Given the description of an element on the screen output the (x, y) to click on. 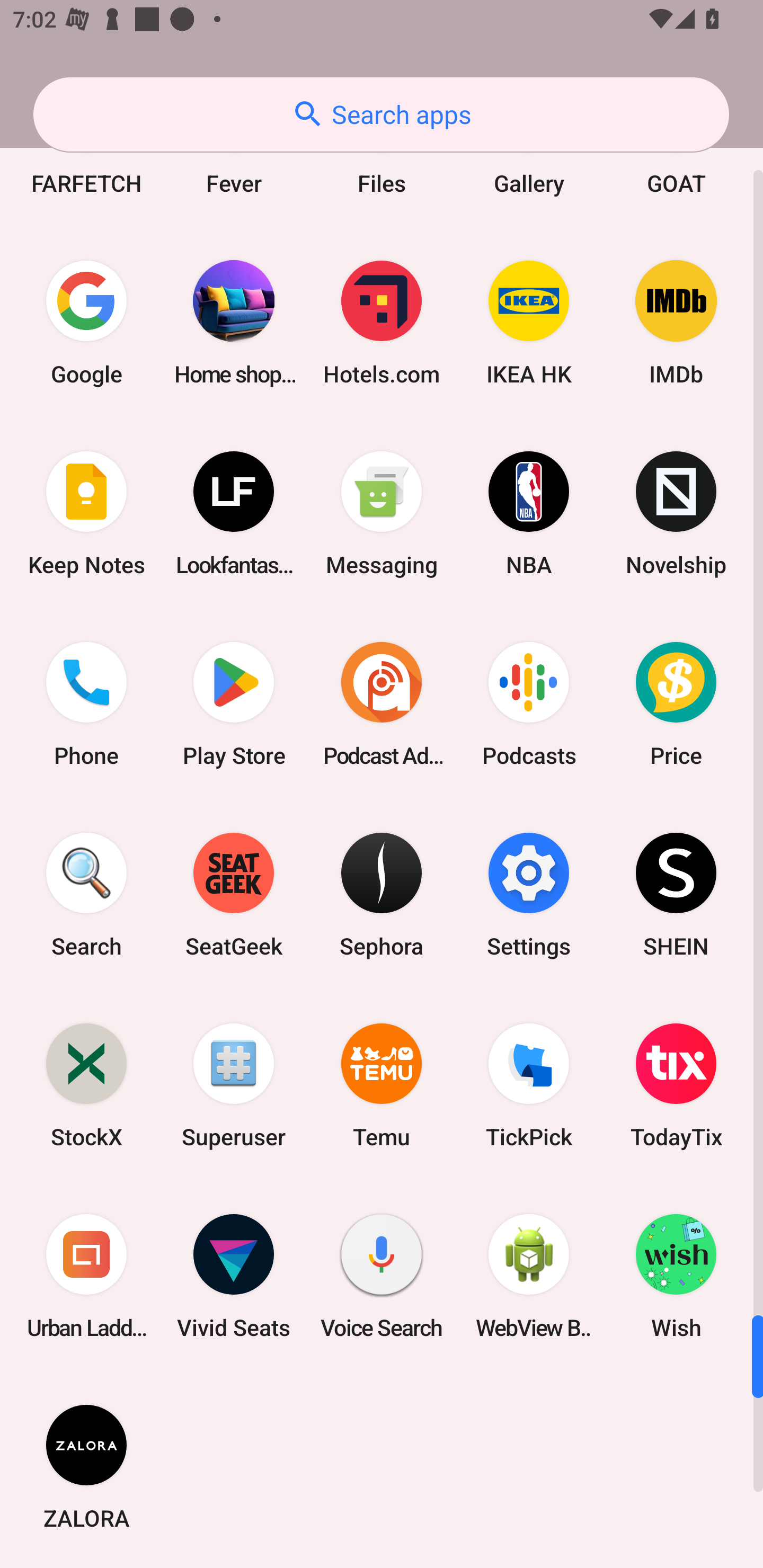
  Search apps (381, 114)
Google (86, 322)
Home shopping (233, 322)
Hotels.com (381, 322)
IKEA HK (528, 322)
IMDb (676, 322)
Keep Notes (86, 513)
Lookfantastic (233, 513)
Messaging (381, 513)
NBA (528, 513)
Novelship (676, 513)
Phone (86, 703)
Play Store (233, 703)
Podcast Addict (381, 703)
Podcasts (528, 703)
Price (676, 703)
Search (86, 894)
SeatGeek (233, 894)
Sephora (381, 894)
Settings (528, 894)
SHEIN (676, 894)
StockX (86, 1084)
Superuser (233, 1084)
Temu (381, 1084)
TickPick (528, 1084)
TodayTix (676, 1084)
Urban Ladder (86, 1276)
Vivid Seats (233, 1276)
Voice Search (381, 1276)
WebView Browser Tester (528, 1276)
Wish (676, 1276)
ZALORA (86, 1466)
